Given the description of an element on the screen output the (x, y) to click on. 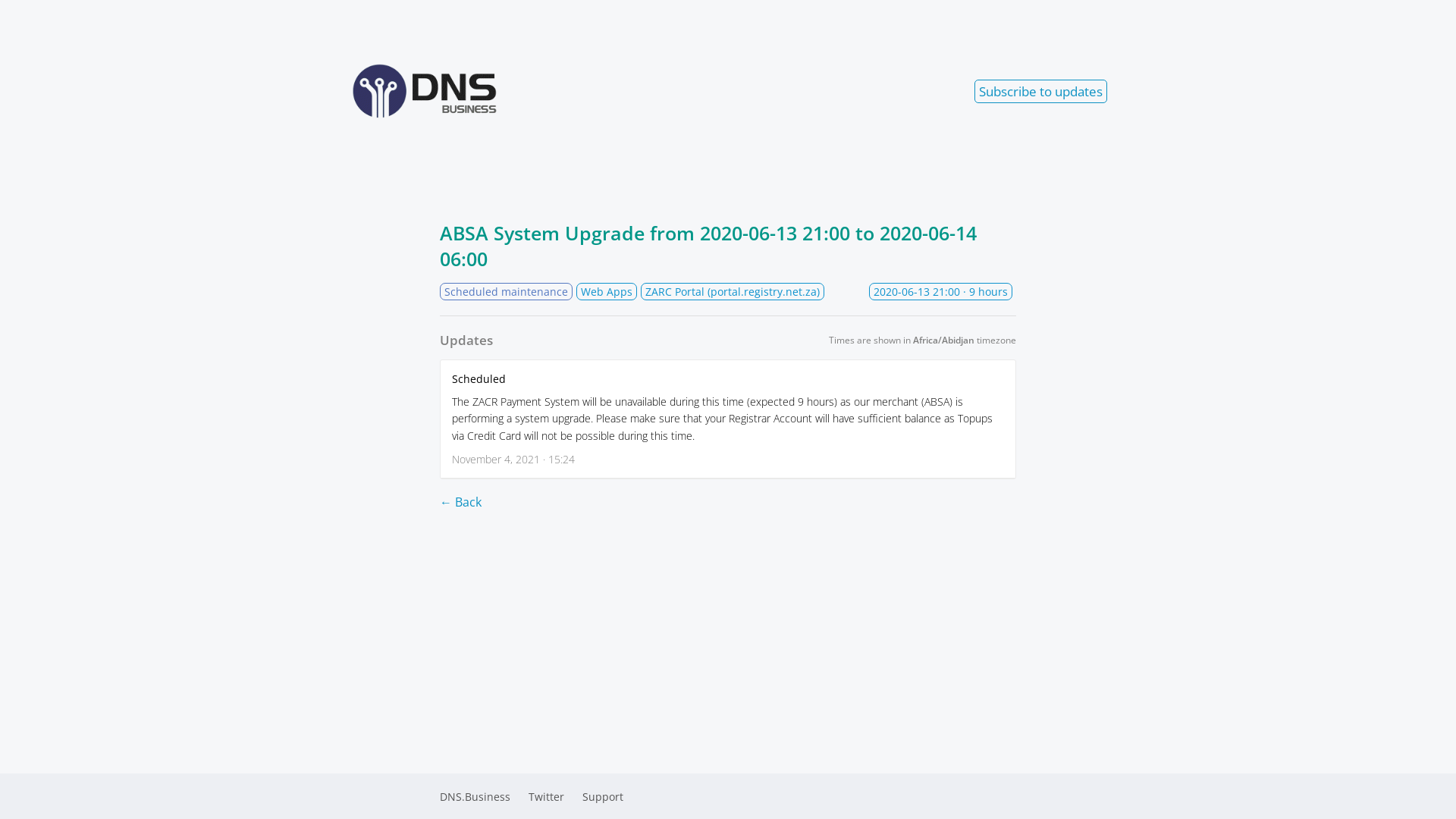
Twitter Element type: text (546, 795)
Subscribe to updates Element type: text (1040, 90)
DNS.Business Element type: text (474, 795)
Scheduled Element type: text (478, 378)
Support Element type: text (602, 795)
